Given the description of an element on the screen output the (x, y) to click on. 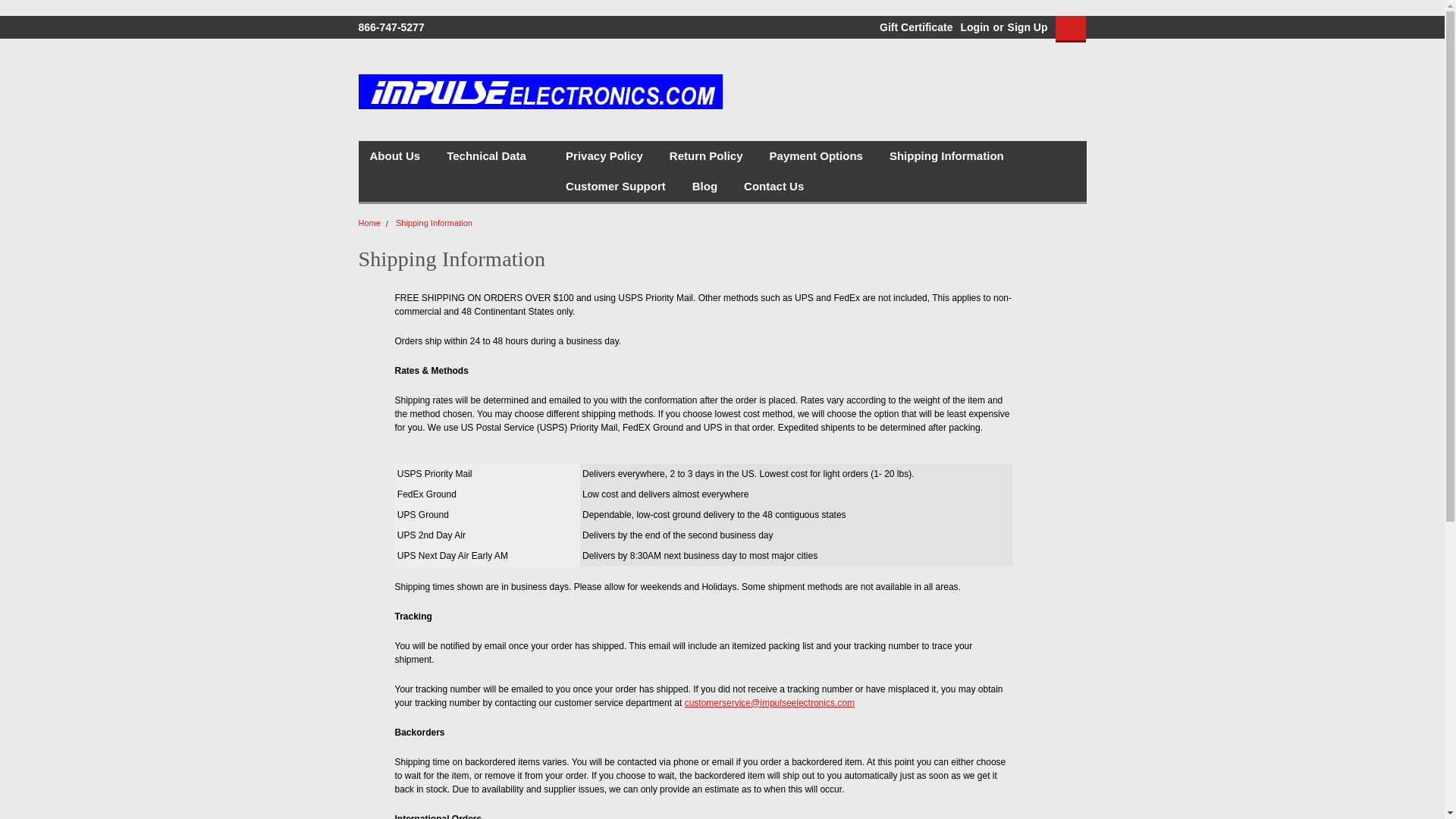
Gift Certificate (912, 26)
Impulse Electronics (540, 91)
Login (973, 26)
Sign Up (1026, 26)
